Given the description of an element on the screen output the (x, y) to click on. 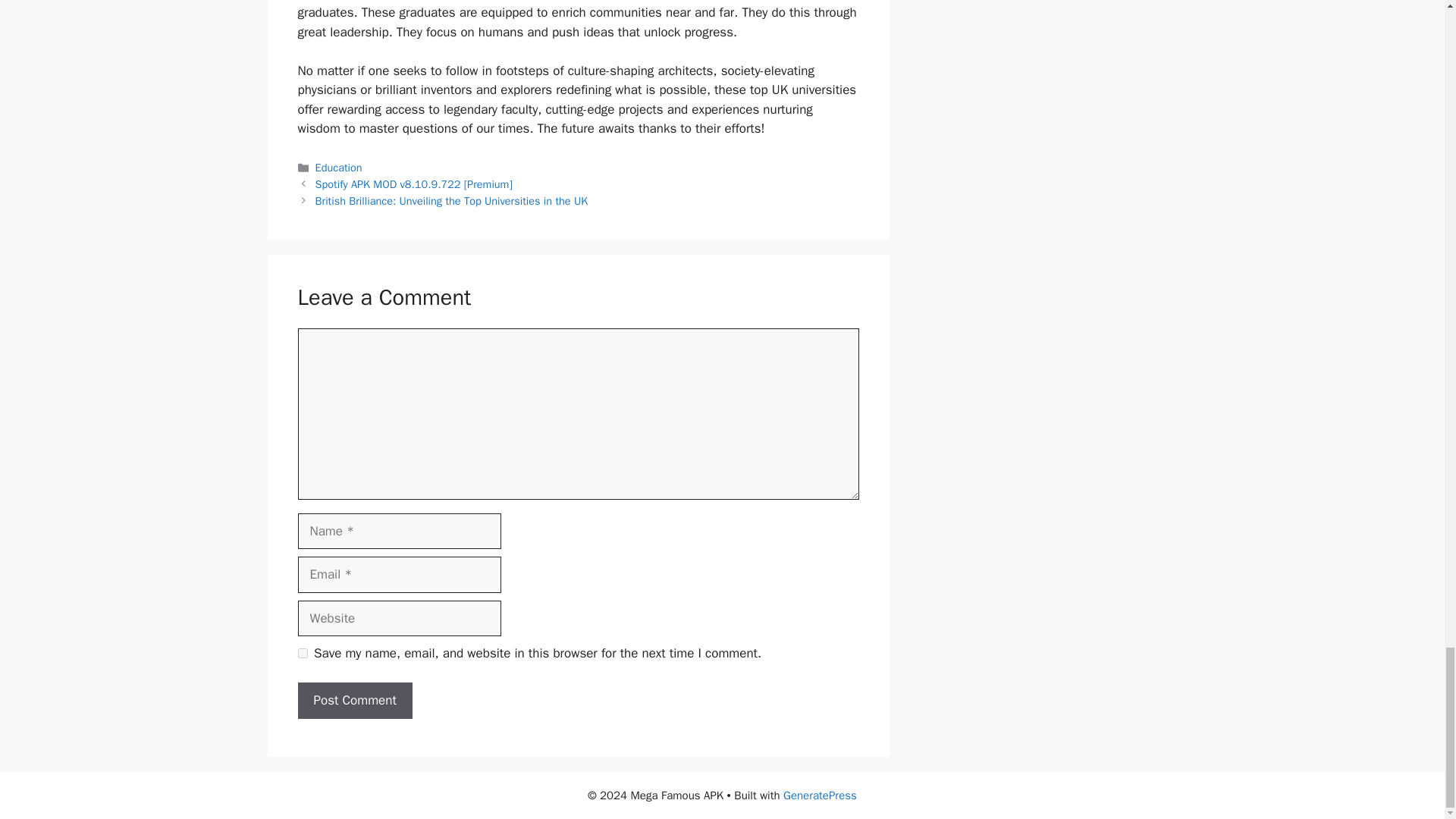
yes (302, 653)
Post Comment (354, 700)
British Brilliance: Unveiling the Top Universities in the UK (451, 201)
GeneratePress (820, 795)
Education (338, 167)
Post Comment (354, 700)
